Given the description of an element on the screen output the (x, y) to click on. 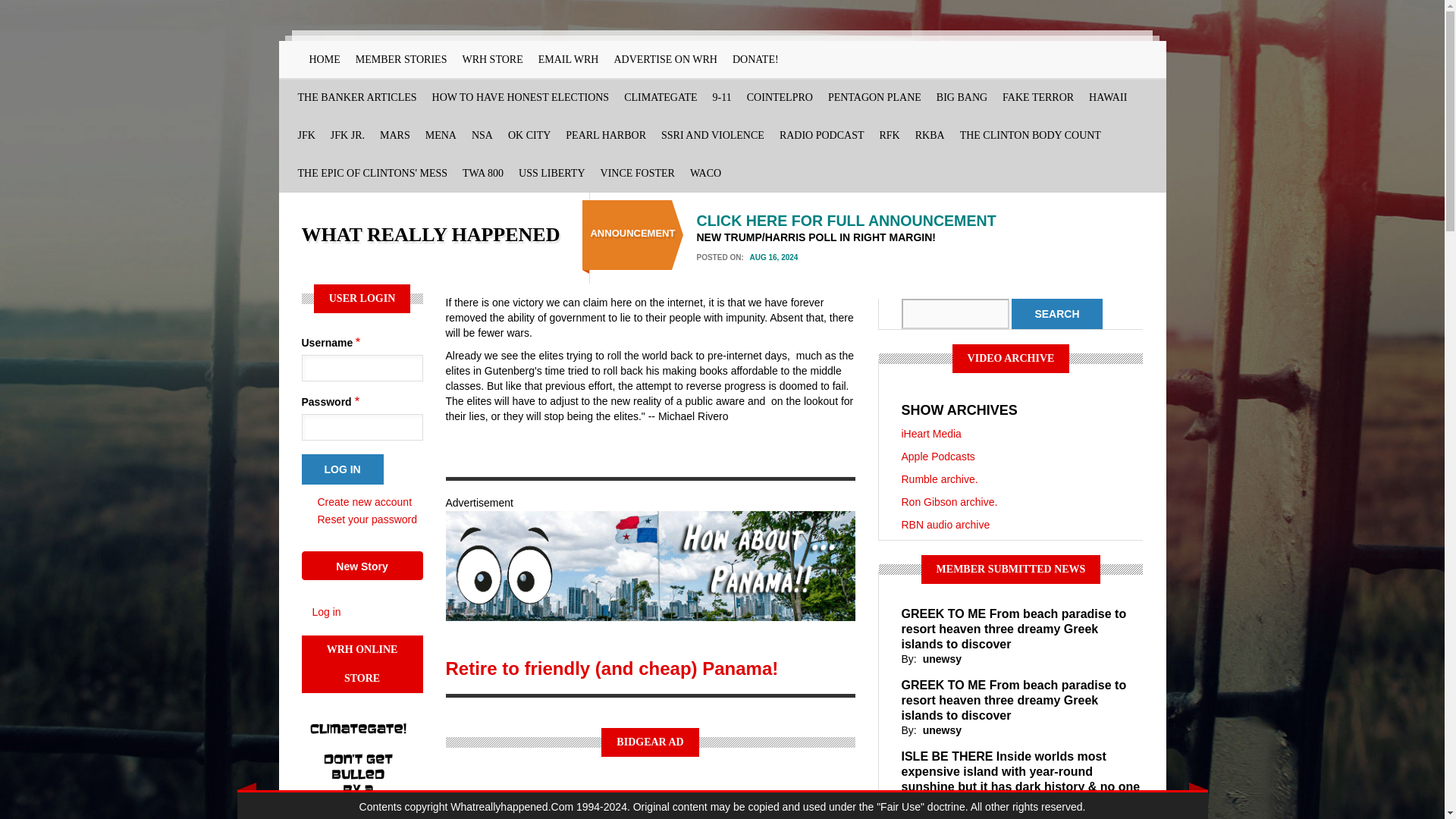
PEARL HARBOR (605, 135)
9-11 (721, 97)
EMAIL WRH (569, 59)
JFK JR. (347, 135)
COINTELPRO (780, 97)
MENA (440, 135)
VINCE FOSTER (637, 173)
Home (430, 234)
WRH STORE (491, 59)
